Given the description of an element on the screen output the (x, y) to click on. 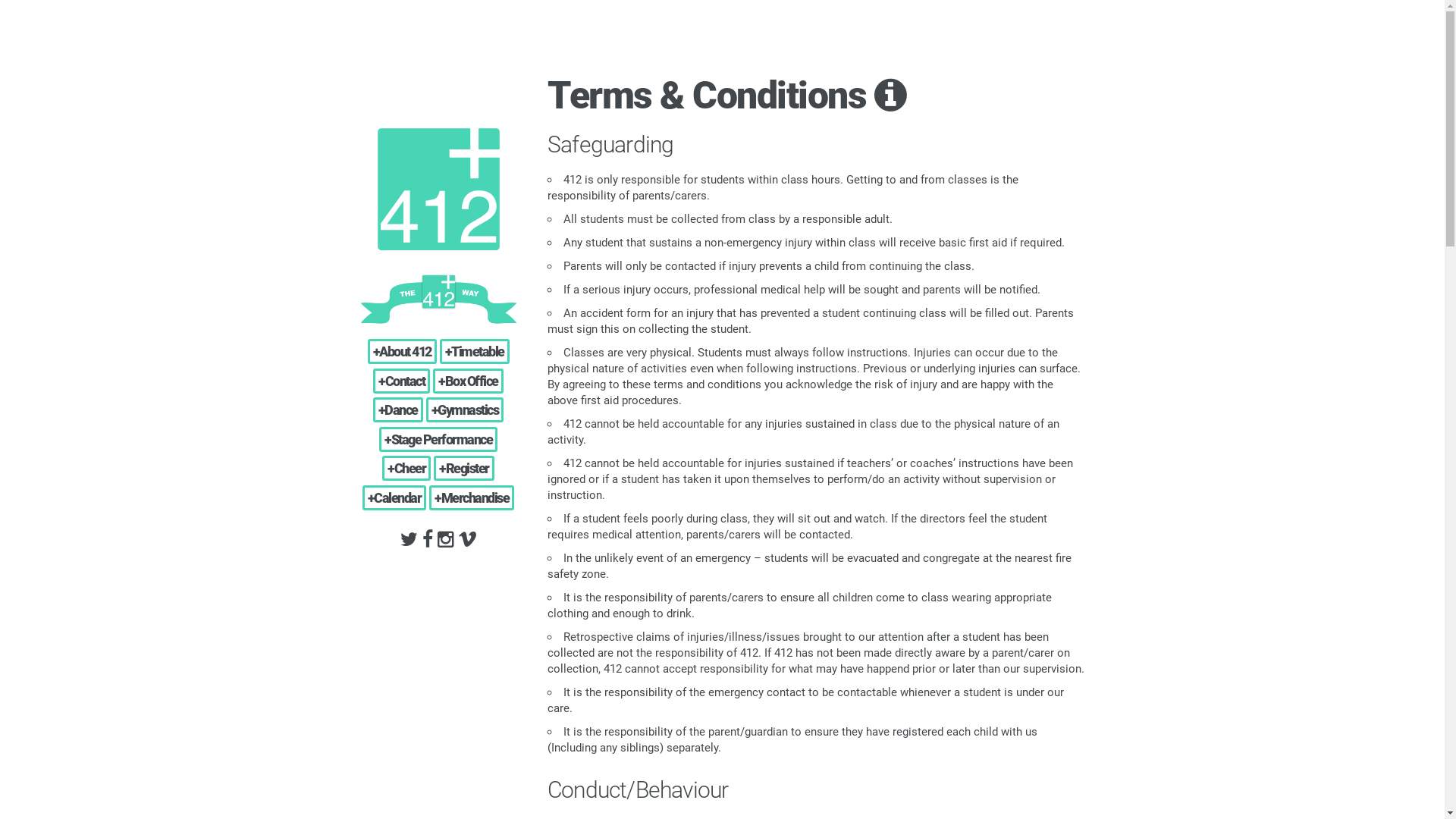
+Calendar Element type: text (394, 497)
+Contact Element type: text (401, 380)
+Register Element type: text (463, 467)
+Dance Element type: text (398, 409)
+Stage Performance Element type: text (438, 438)
+Timetable Element type: text (474, 351)
+Box Office Element type: text (468, 380)
What is THE412WAY? Element type: hover (437, 299)
Home Element type: hover (438, 189)
+Merchandise Element type: text (471, 497)
+Gymnastics Element type: text (465, 409)
+About 412 Element type: text (401, 351)
+Cheer Element type: text (406, 467)
